Given the description of an element on the screen output the (x, y) to click on. 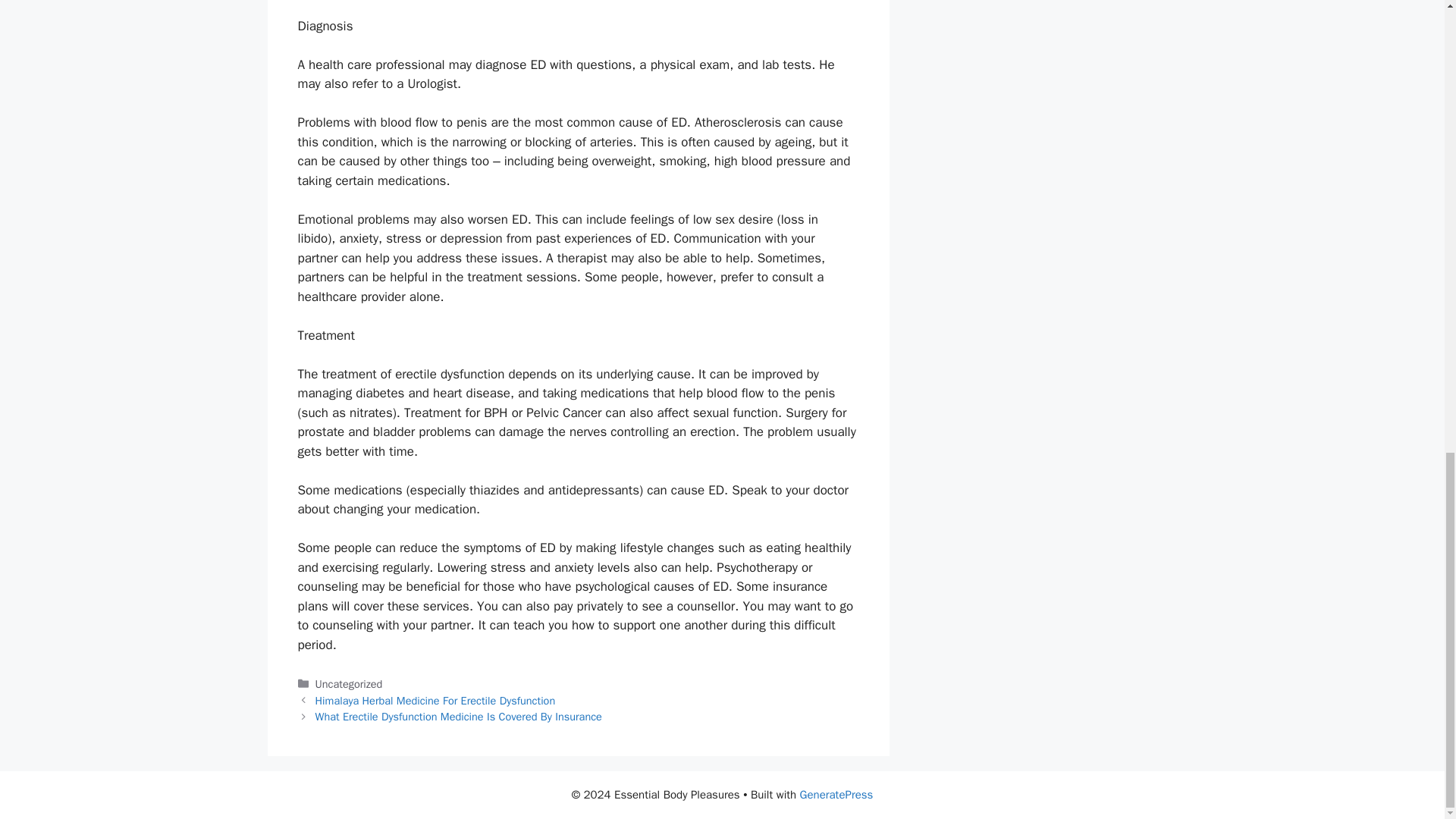
GeneratePress (836, 794)
Himalaya Herbal Medicine For Erectile Dysfunction (435, 700)
What Erectile Dysfunction Medicine Is Covered By Insurance (458, 716)
